Given the description of an element on the screen output the (x, y) to click on. 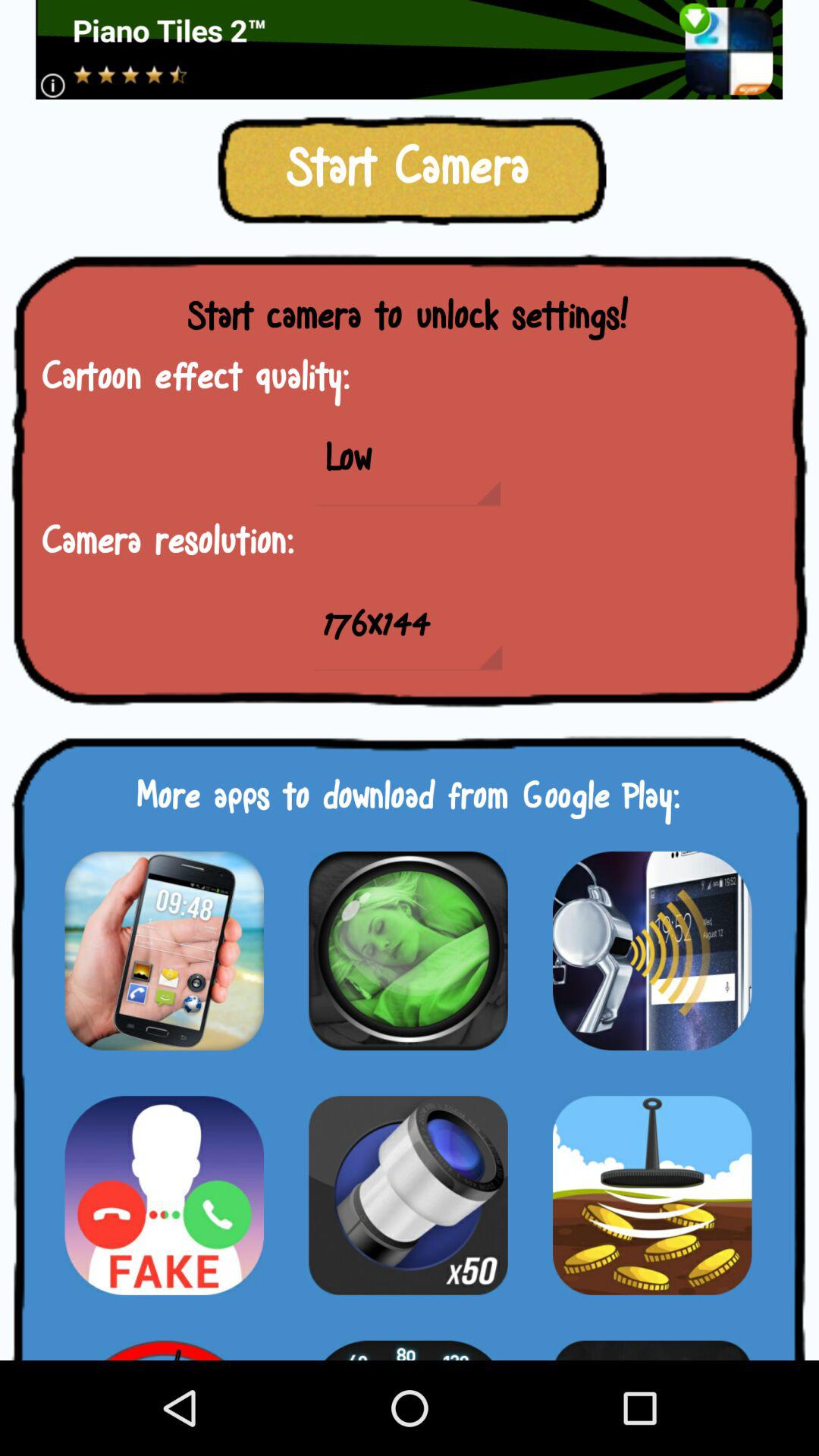
download application (408, 1195)
